Given the description of an element on the screen output the (x, y) to click on. 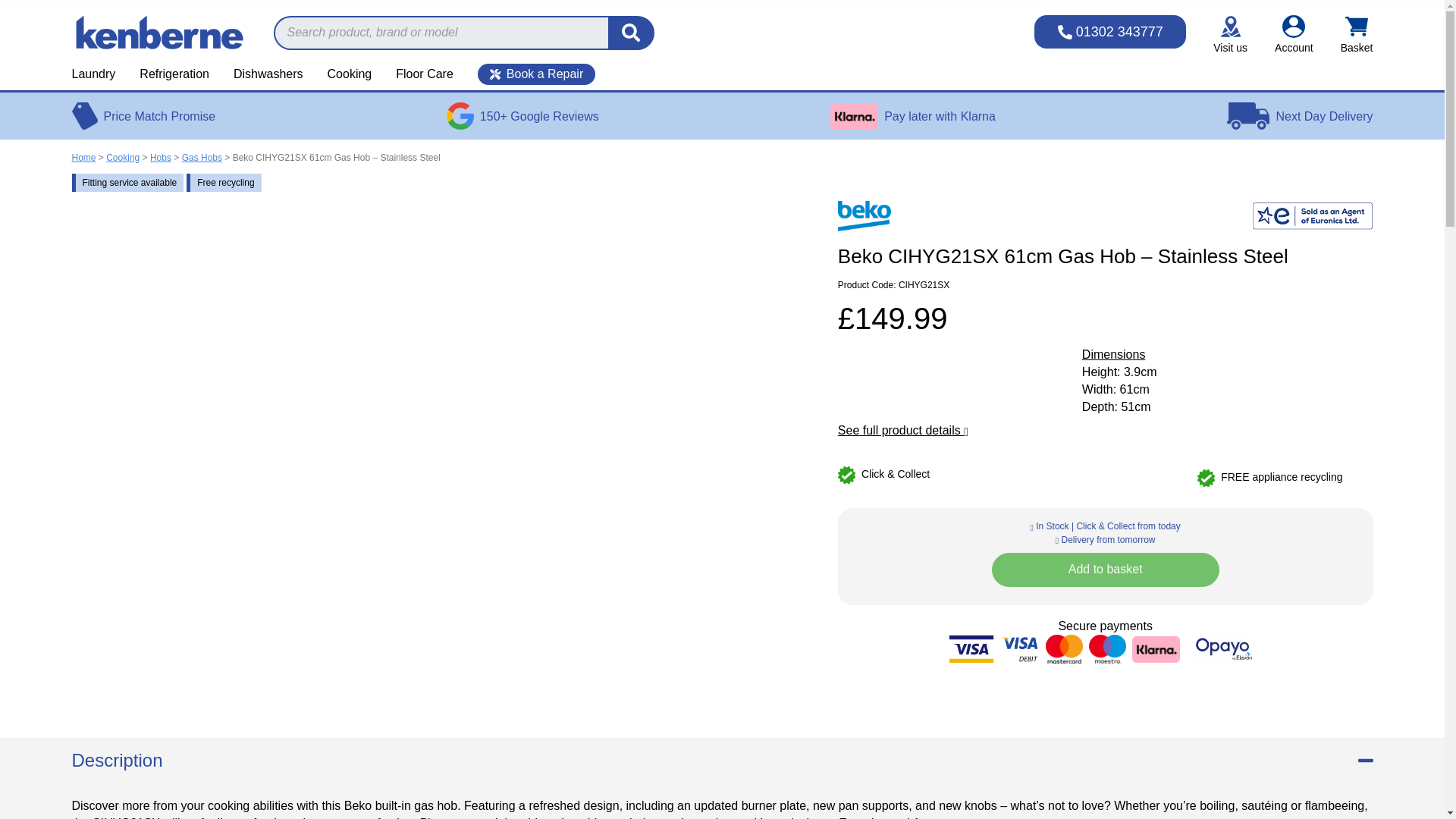
My account (1294, 35)
Laundry (99, 73)
Laundry (99, 73)
Refrigeration (174, 73)
Account (1294, 35)
01302 343777 (1109, 31)
Dishwashers (268, 73)
